Given the description of an element on the screen output the (x, y) to click on. 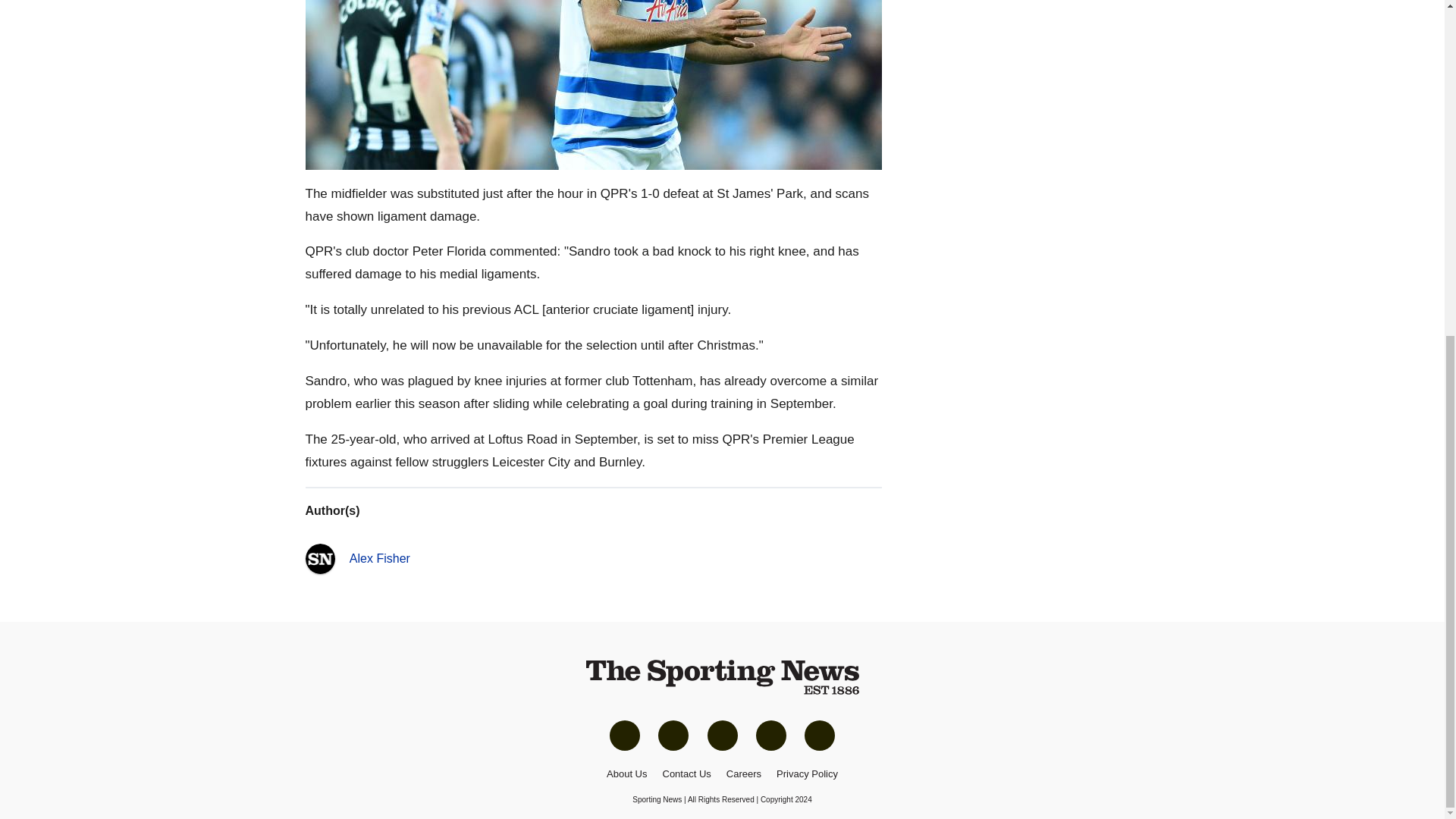
QPR lose Sandro to knee injury (592, 84)
